Given the description of an element on the screen output the (x, y) to click on. 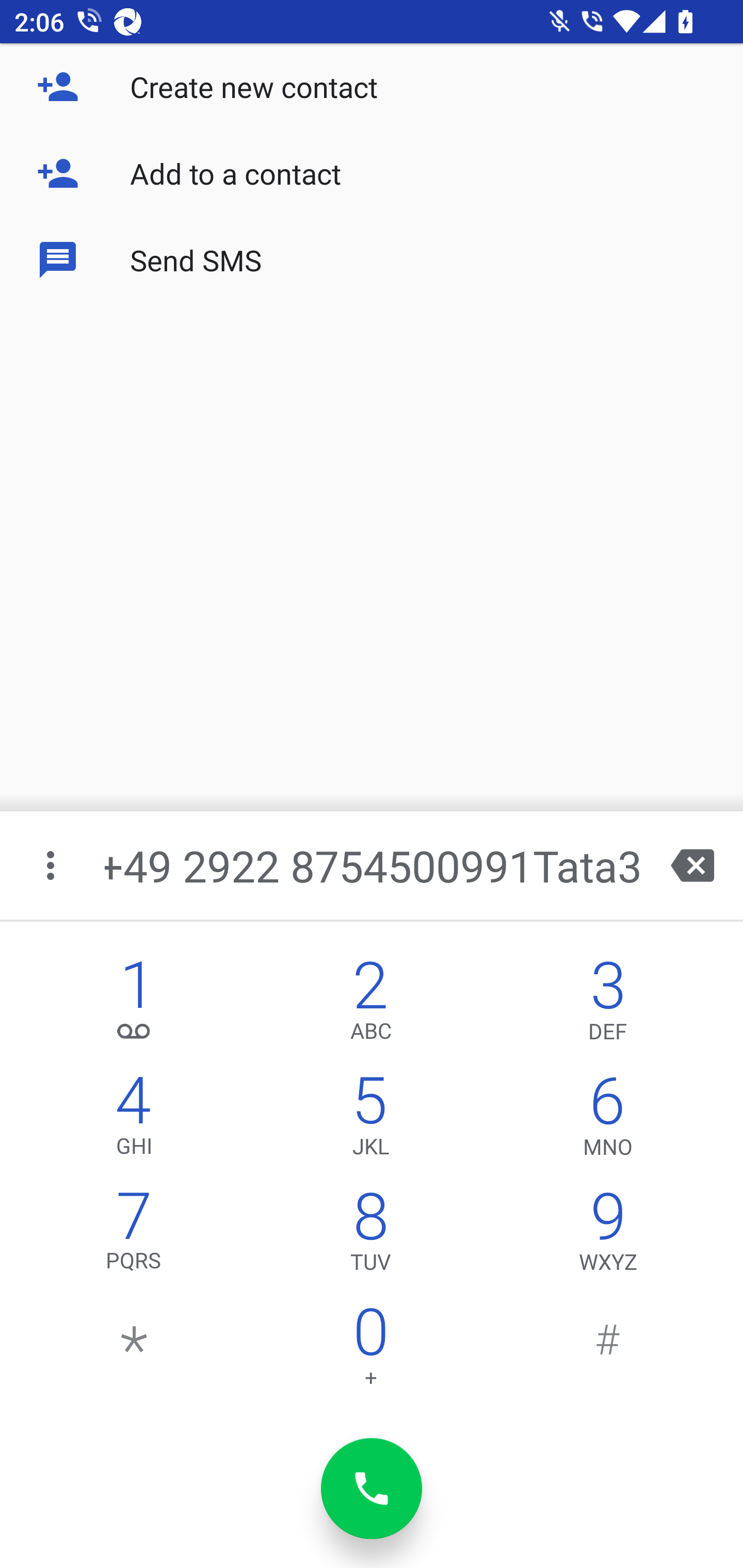
Create new contact (371, 86)
Add to a contact (371, 173)
Send SMS (371, 259)
+49 2922 8754500991Tata3 (372, 865)
backspace (692, 865)
More options (52, 865)
1, 1 (133, 1005)
2,ABC 2 ABC (370, 1005)
3,DEF 3 DEF (607, 1005)
4,GHI 4 GHI (133, 1120)
5,JKL 5 JKL (370, 1120)
6,MNO 6 MNO (607, 1120)
7,PQRS 7 PQRS (133, 1235)
8,TUV 8 TUV (370, 1235)
9,WXYZ 9 WXYZ (607, 1235)
* (133, 1351)
0 0 + (370, 1351)
# (607, 1351)
dial (371, 1488)
